Given the description of an element on the screen output the (x, y) to click on. 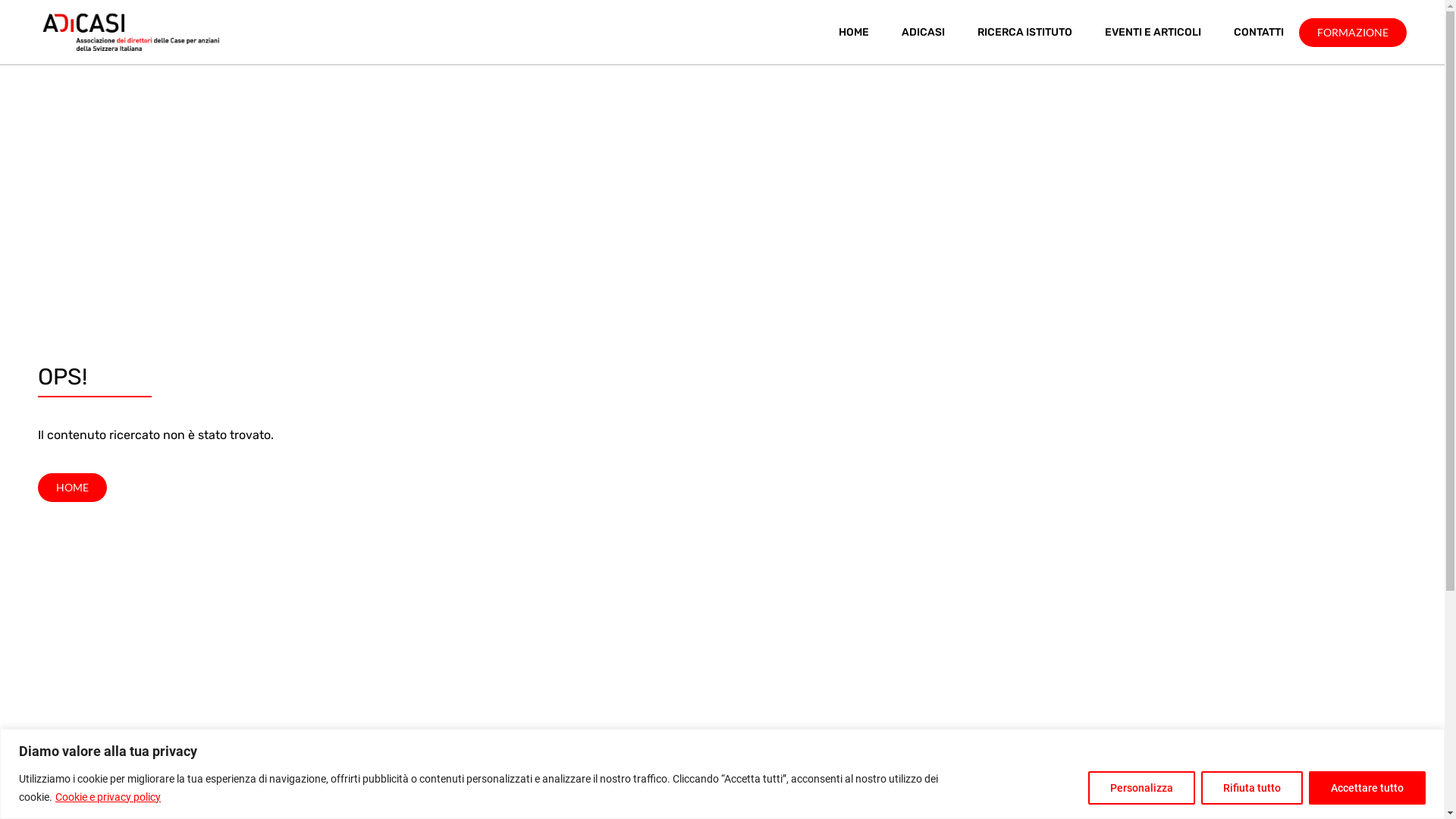
CONTATTI Element type: text (1258, 32)
Cookie e privacy policy Element type: text (107, 796)
Rifiuta tutto Element type: text (1251, 786)
EVENTI E ARTICOLI Element type: text (1152, 32)
Accettare tutto Element type: text (1366, 786)
RICERCA ISTITUTO Element type: text (1024, 32)
ADICASI Element type: text (922, 32)
HOME Element type: text (853, 32)
FORMAZIONE Element type: text (1352, 32)
Personalizza Element type: text (1141, 786)
HOME Element type: text (71, 487)
